Given the description of an element on the screen output the (x, y) to click on. 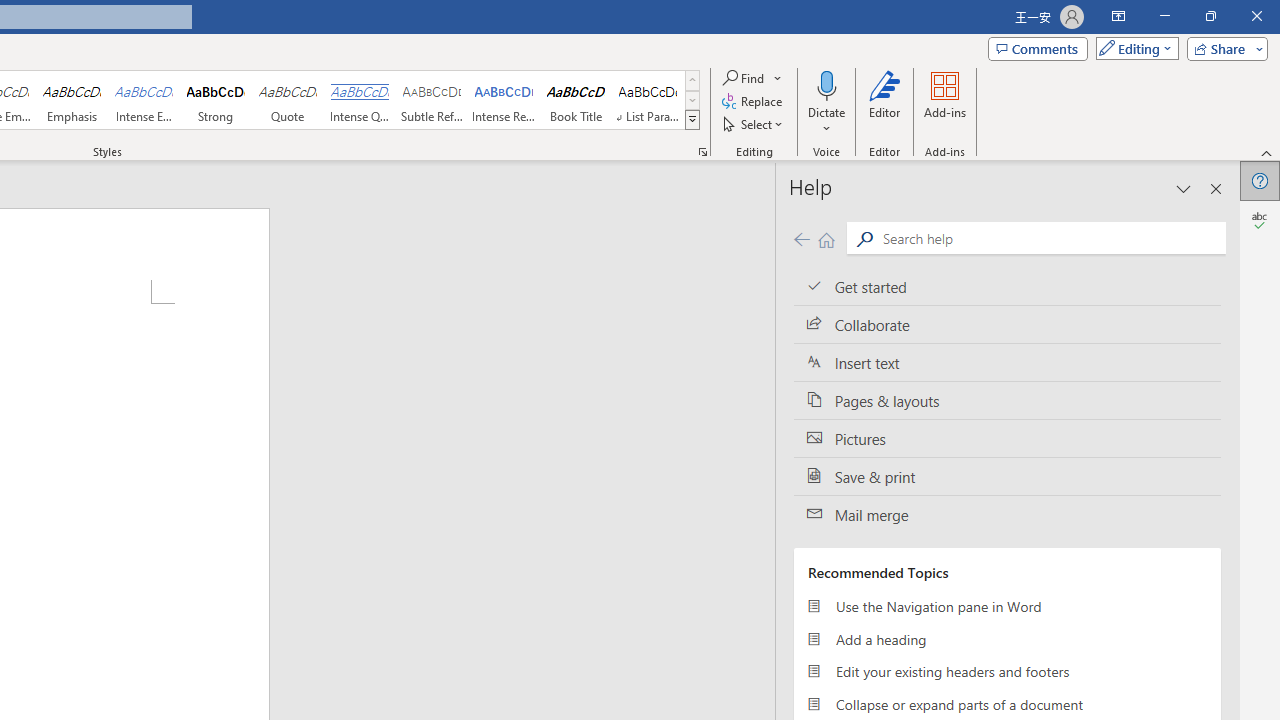
Editor (1260, 220)
Emphasis (71, 100)
Comments (1038, 48)
Get started (1007, 286)
Save & print (1007, 476)
Ribbon Display Options (1118, 16)
Task Pane Options (1183, 188)
Insert text (1007, 363)
Use the Navigation pane in Word (1007, 605)
Collapse the Ribbon (1267, 152)
Collapse or expand parts of a document (1007, 704)
